Given the description of an element on the screen output the (x, y) to click on. 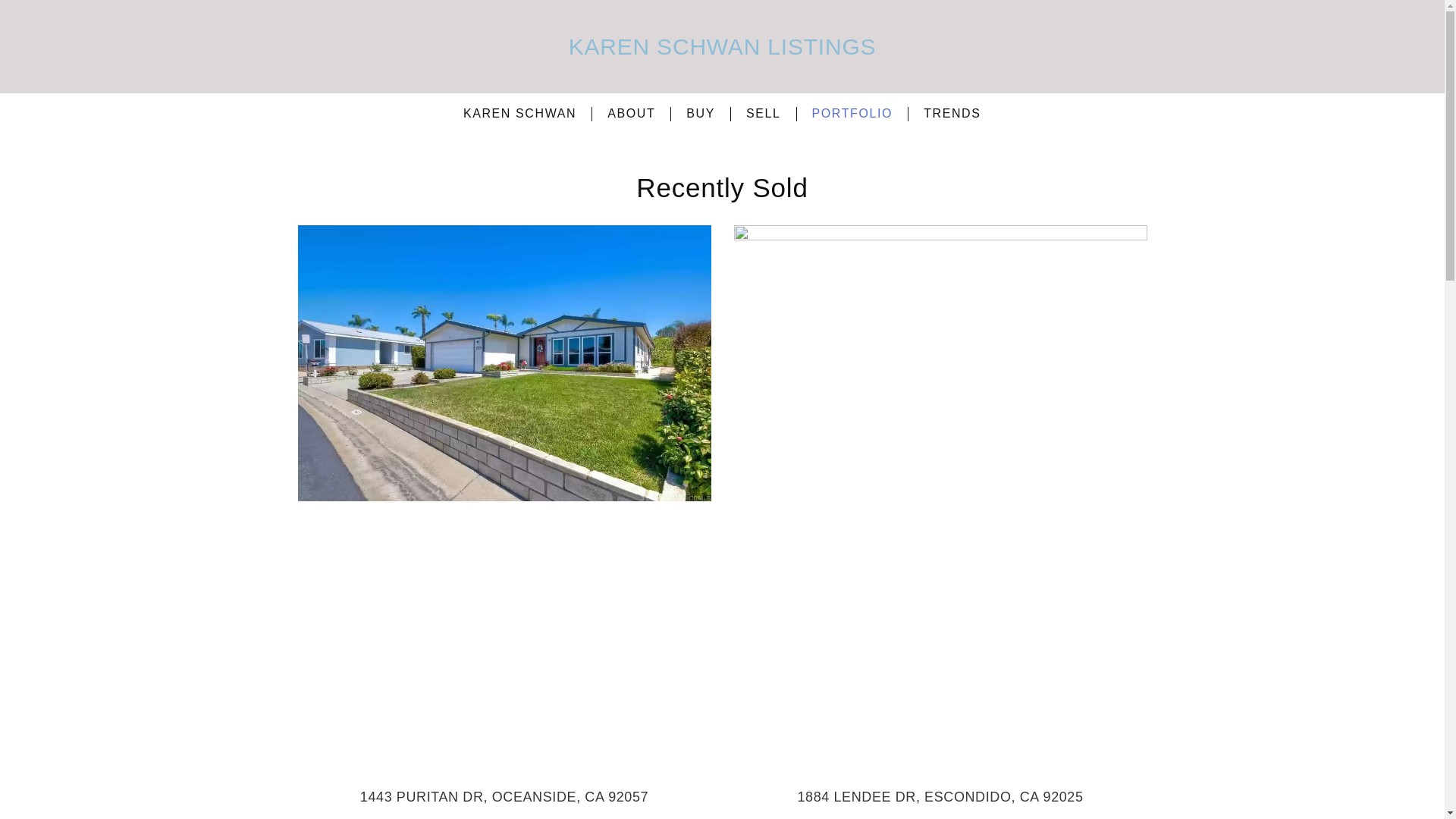
BUY (700, 114)
TRENDS (951, 114)
1884 LENDEE DR, ESCONDIDO, CA 92025 (939, 796)
ABOUT (630, 114)
KAREN SCHWAN (519, 114)
PORTFOLIO (852, 114)
SELL (763, 114)
1443 PURITAN DR, OCEANSIDE, CA 92057 (503, 796)
